Given the description of an element on the screen output the (x, y) to click on. 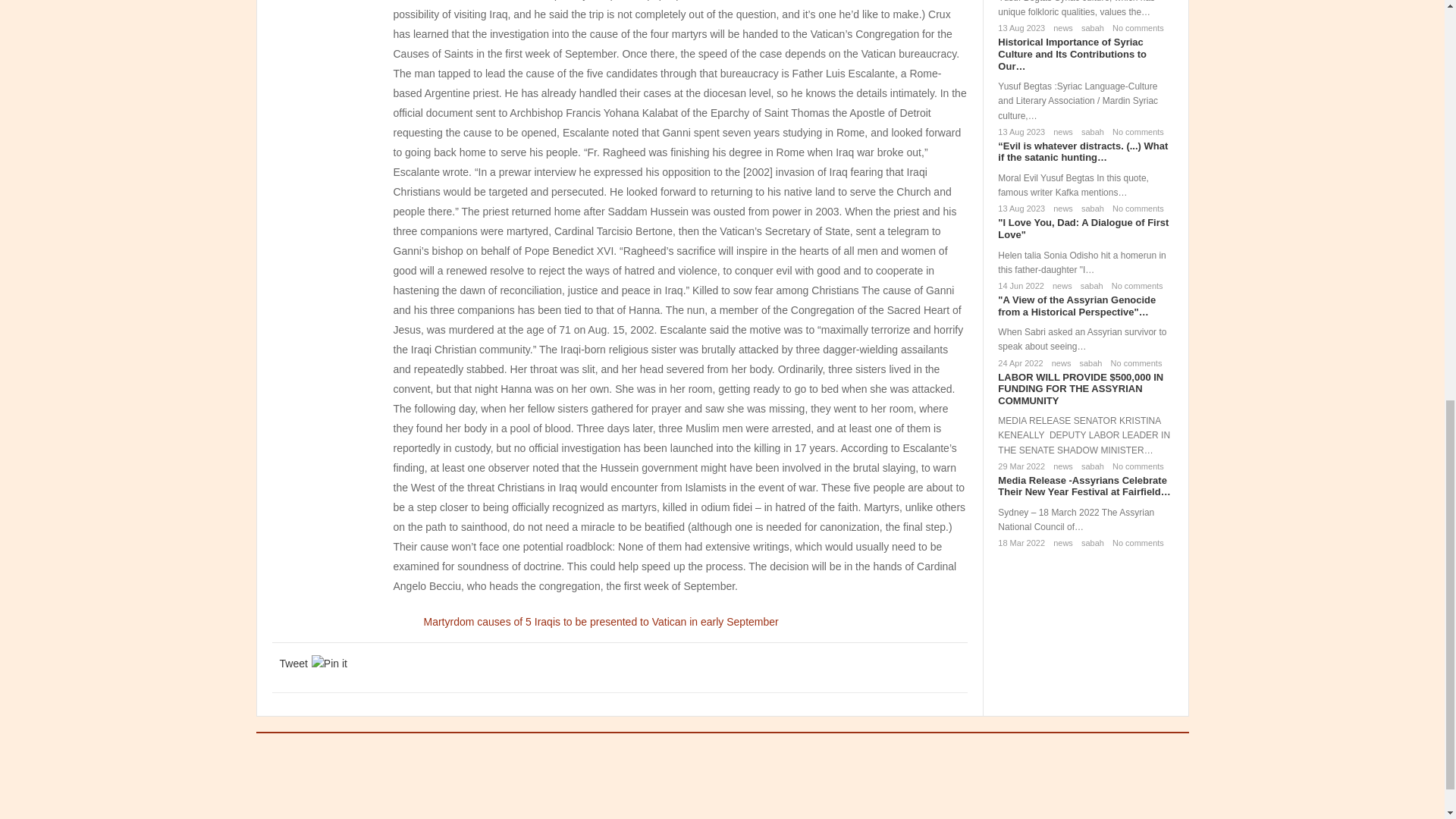
Tweet (293, 663)
Pin it (329, 663)
